Given the description of an element on the screen output the (x, y) to click on. 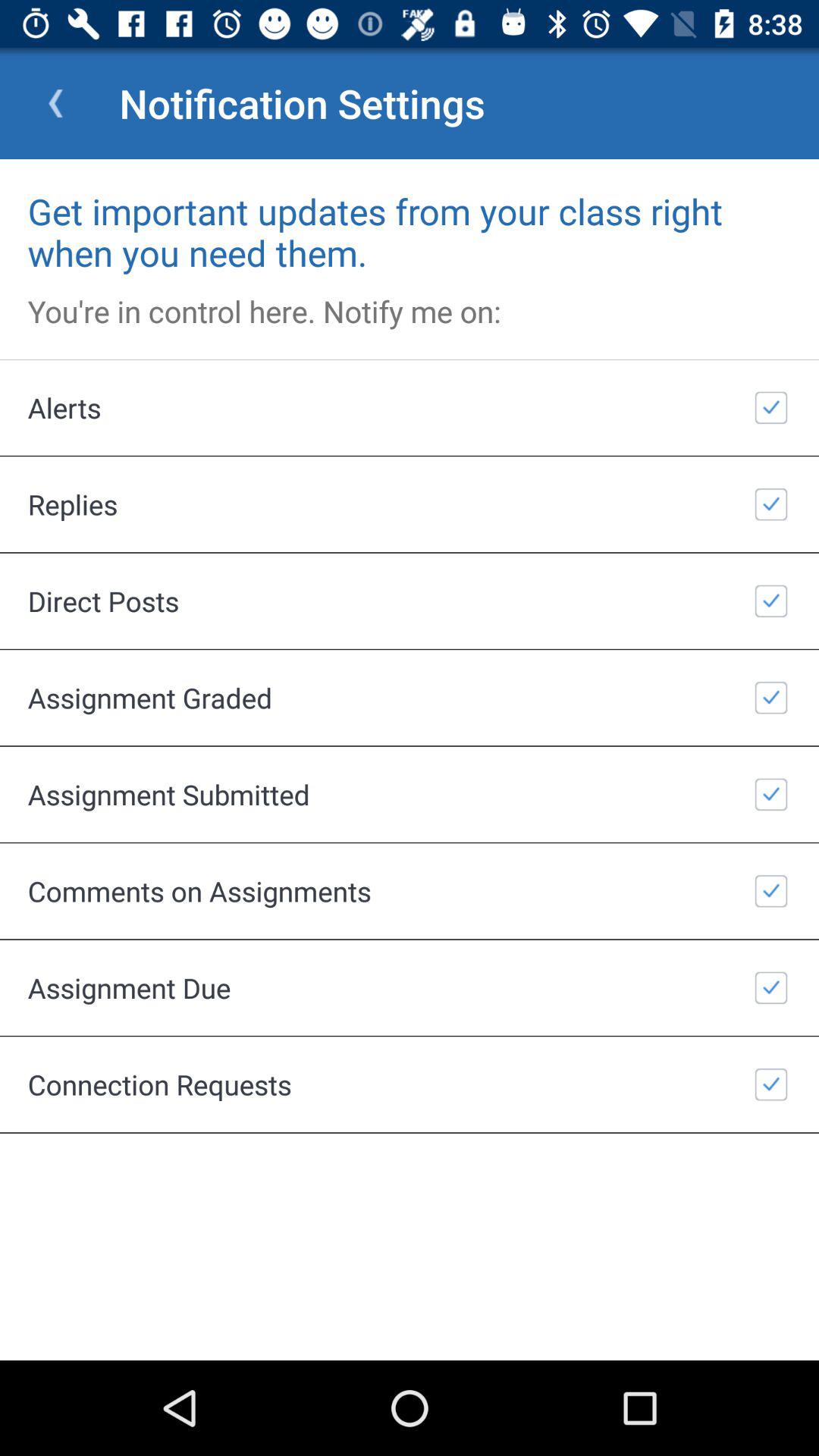
press item above the connection requests icon (409, 987)
